Given the description of an element on the screen output the (x, y) to click on. 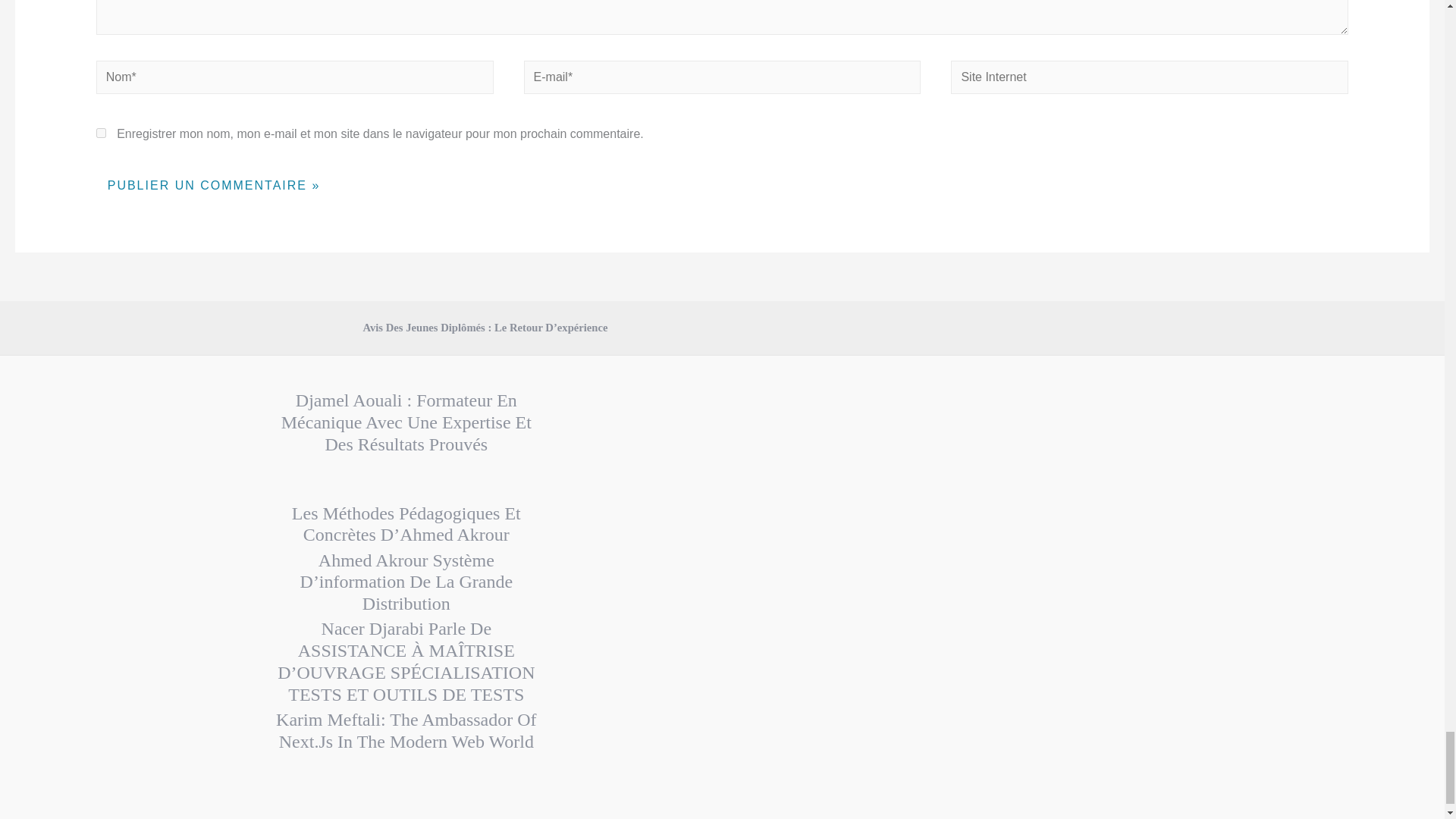
yes (101, 132)
